Given the description of an element on the screen output the (x, y) to click on. 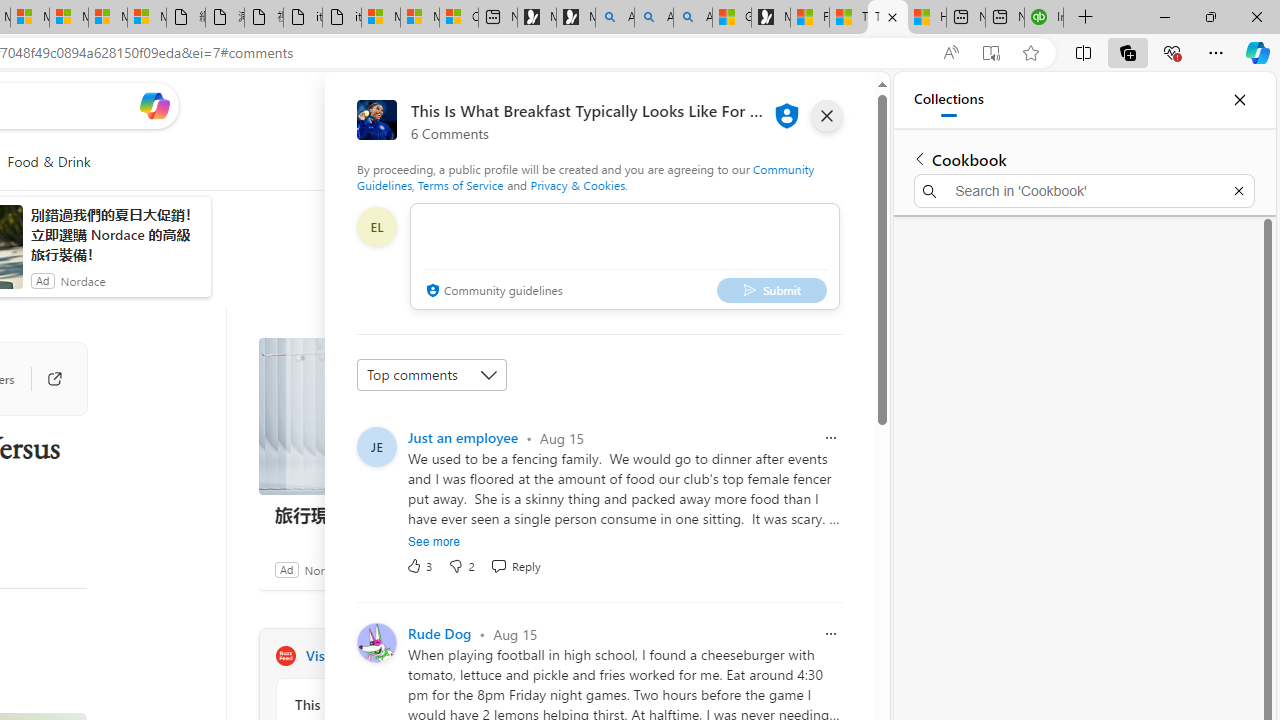
Visit BuzzFeed website (532, 655)
Alabama high school quarterback dies - Search Videos (692, 17)
BuzzFeed (285, 655)
3 Like (419, 565)
